Given the description of an element on the screen output the (x, y) to click on. 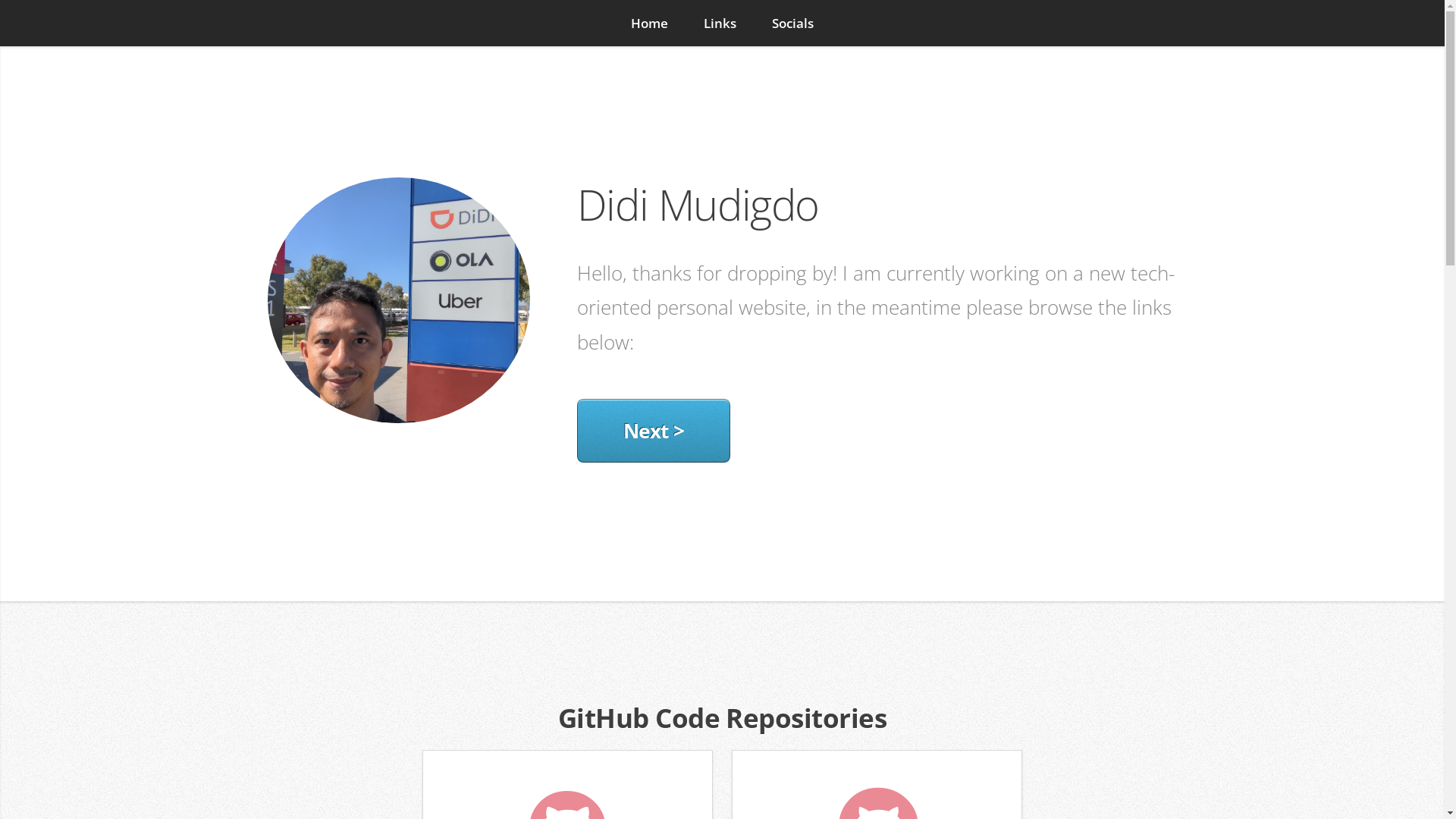
Socials Element type: text (793, 22)
Next > Element type: text (653, 430)
Links Element type: text (719, 22)
Home Element type: text (649, 22)
